Given the description of an element on the screen output the (x, y) to click on. 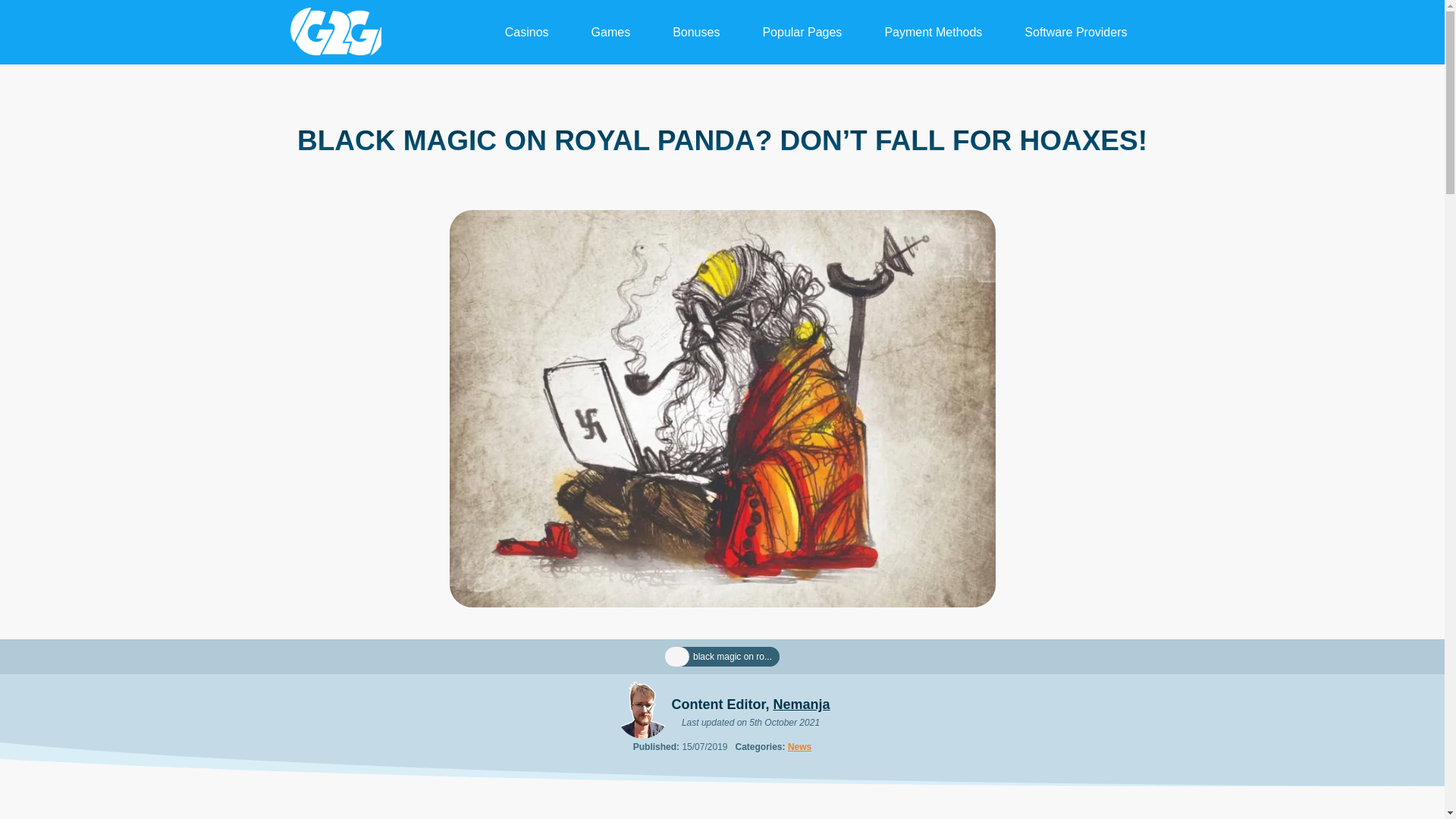
Bonuses (696, 32)
Payment Methods (933, 32)
Home (676, 656)
Games (611, 32)
Popular Pages (801, 32)
Casinos (526, 32)
